Given the description of an element on the screen output the (x, y) to click on. 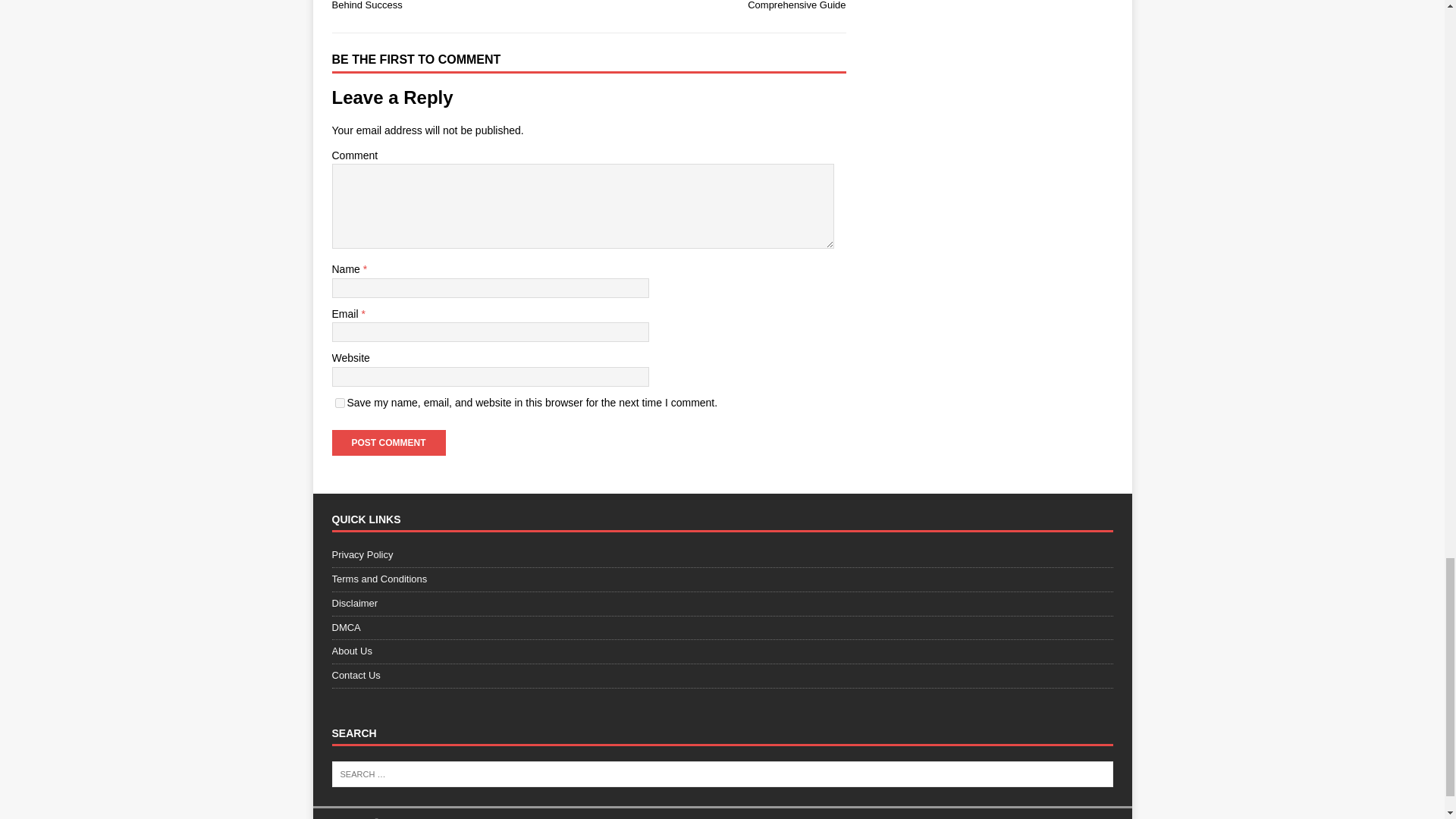
Privacy Policy (722, 557)
Terms and Conditions (722, 579)
About Us (722, 651)
Post Comment (388, 442)
yes (339, 402)
Disclaimer (722, 603)
DMCA (722, 627)
Post Comment (388, 442)
